Given the description of an element on the screen output the (x, y) to click on. 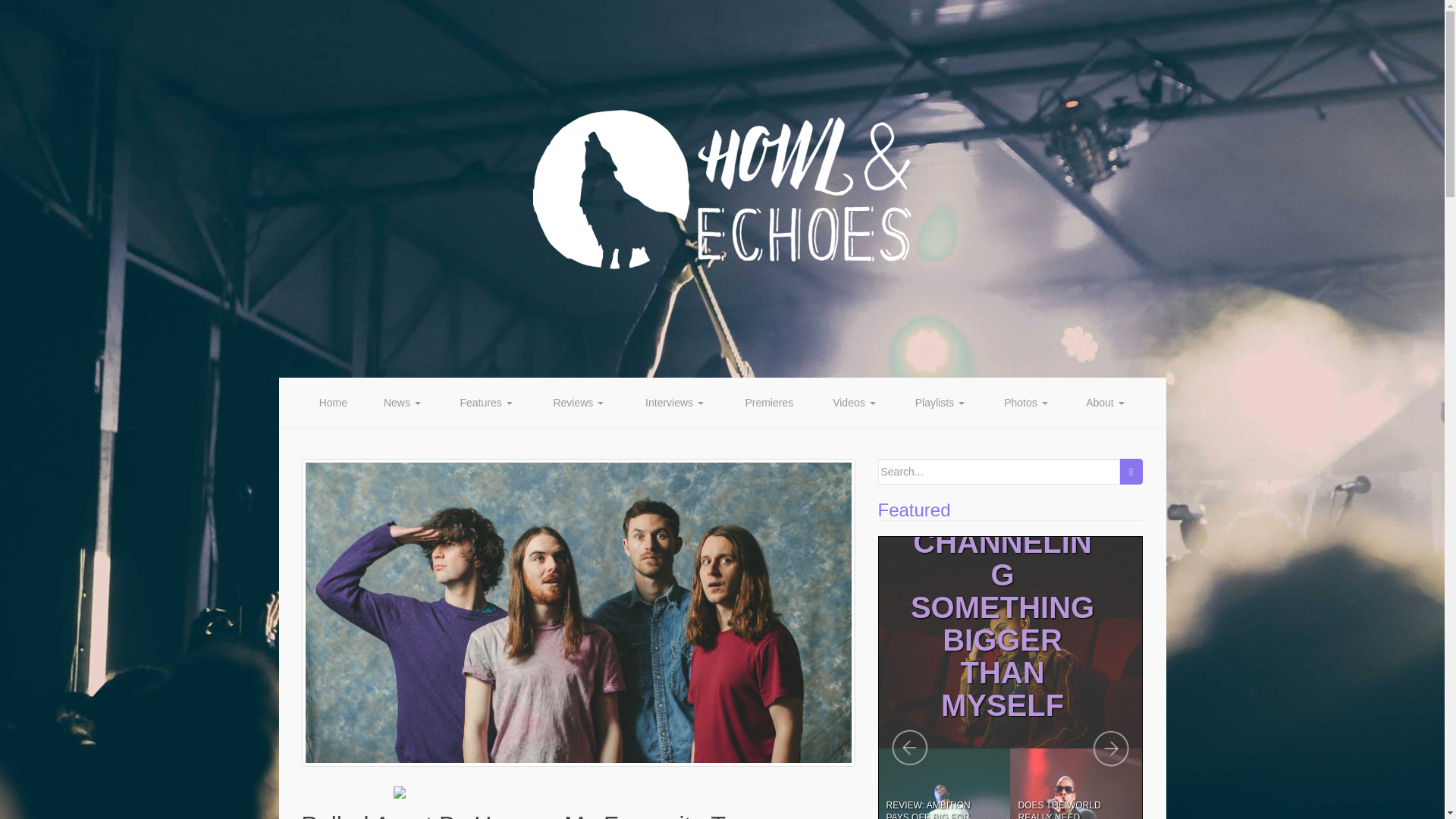
Photos (1026, 402)
About (1104, 402)
Playlists (939, 402)
Home (333, 402)
Features (485, 402)
Interviews (674, 402)
Reviews (578, 402)
News (402, 402)
News (402, 402)
Interviews (674, 402)
Features (485, 402)
Reviews (578, 402)
Videos (854, 402)
Home (333, 402)
Premieres (769, 402)
